Given the description of an element on the screen output the (x, y) to click on. 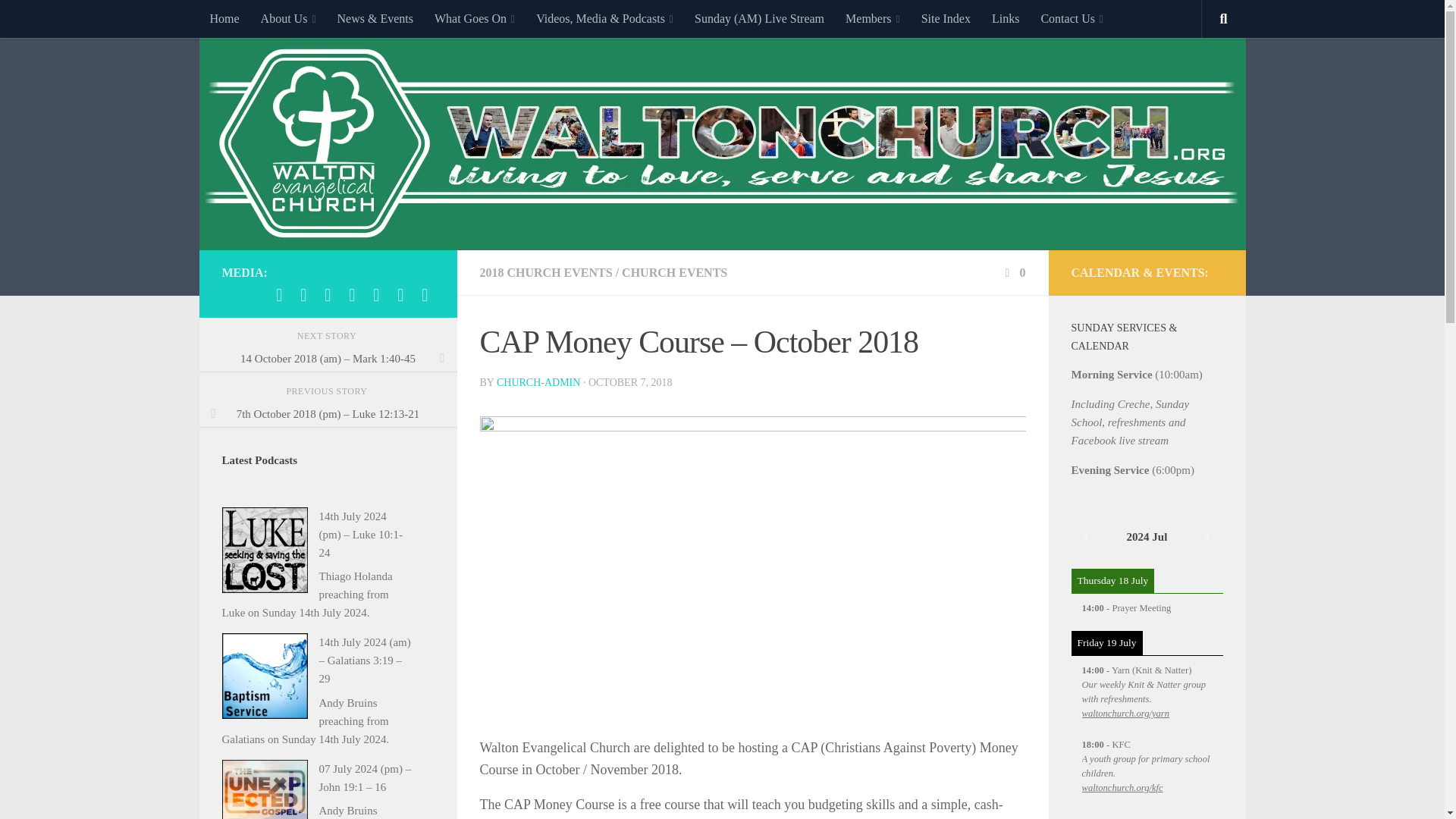
Previous (1085, 537)
About Us (288, 18)
Send us an email (278, 294)
What Goes On (474, 18)
Home (223, 18)
Follow us on Twitter (351, 294)
Follow us on Youtube! (423, 294)
Next (1207, 537)
Follow us on Tiktok! (375, 294)
Follow us on Instagram! (327, 294)
Posts by church-admin (537, 382)
Skip to content (59, 20)
Follow us on Pinterest! (400, 294)
Follow us on Facebook! (303, 294)
